Given the description of an element on the screen output the (x, y) to click on. 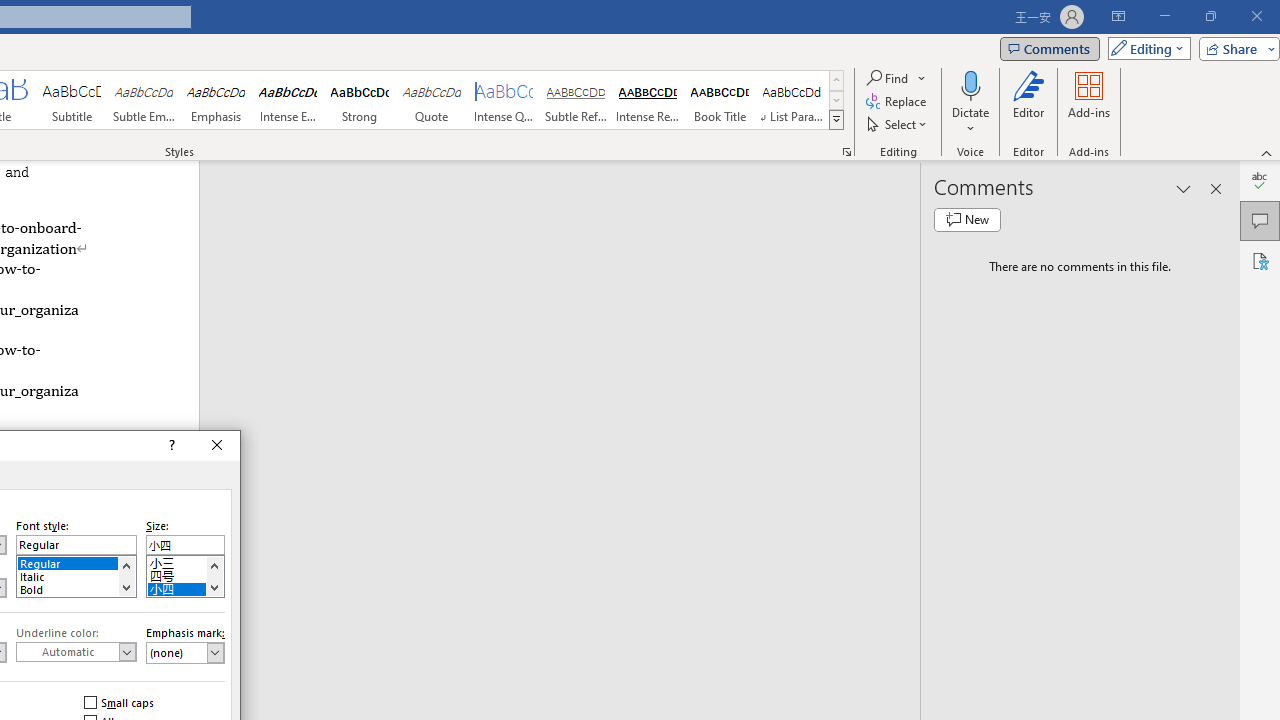
Accessibility (1260, 260)
Bold (75, 587)
Select (898, 124)
Styles (836, 120)
Comments (1260, 220)
Subtitle (71, 100)
Ribbon Display Options (1118, 16)
Context help (170, 445)
Row up (836, 79)
AutomationID: 1797 (214, 576)
Find (888, 78)
